Given the description of an element on the screen output the (x, y) to click on. 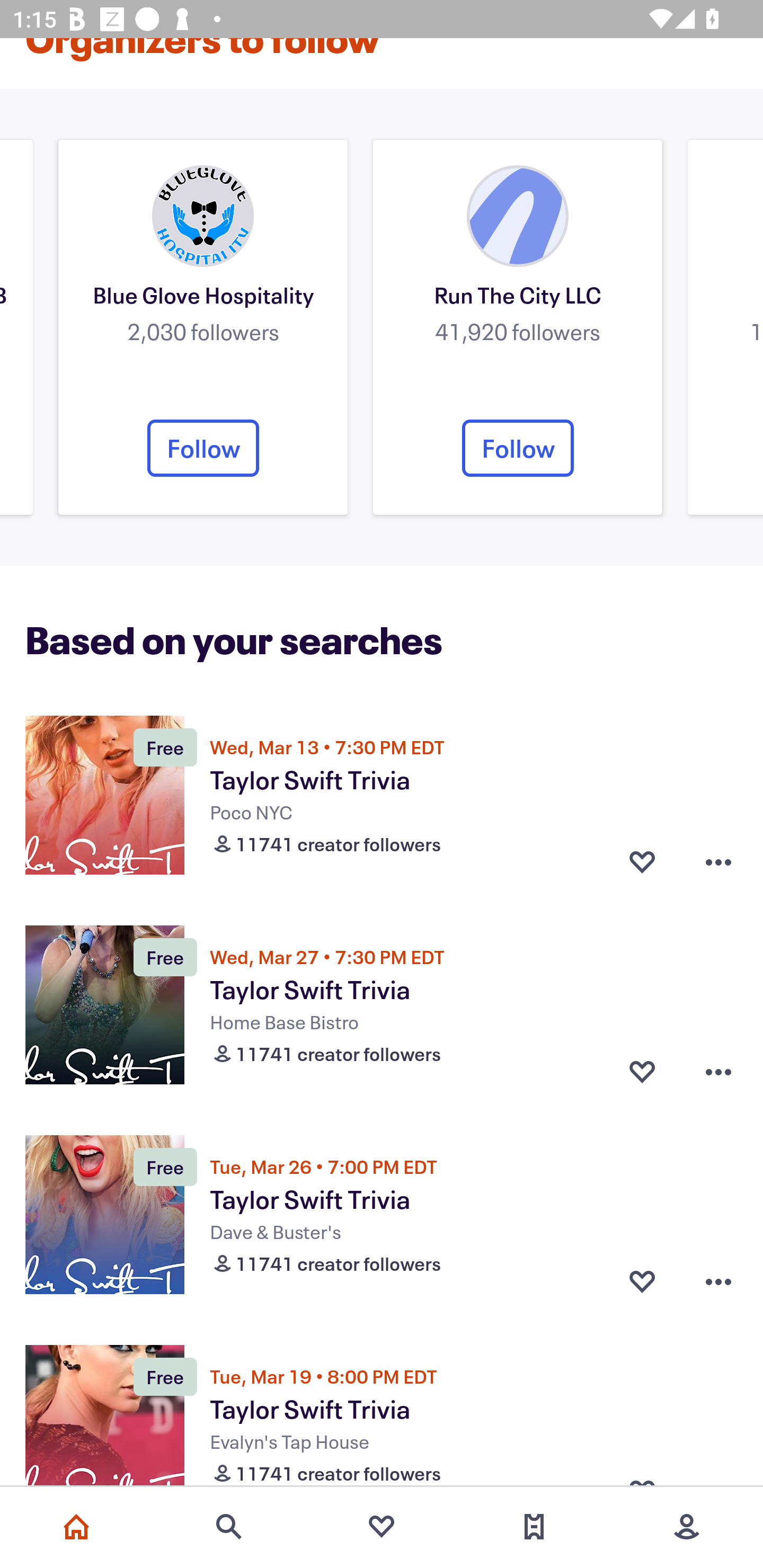
Follow Organizer's follow button (203, 448)
Follow Organizer's follow button (517, 448)
Favorite button (642, 862)
Overflow menu button (718, 862)
Favorite button (642, 1071)
Overflow menu button (718, 1071)
Favorite button (642, 1281)
Overflow menu button (718, 1281)
Home (76, 1526)
Search events (228, 1526)
Favorites (381, 1526)
Tickets (533, 1526)
More (686, 1526)
